Given the description of an element on the screen output the (x, y) to click on. 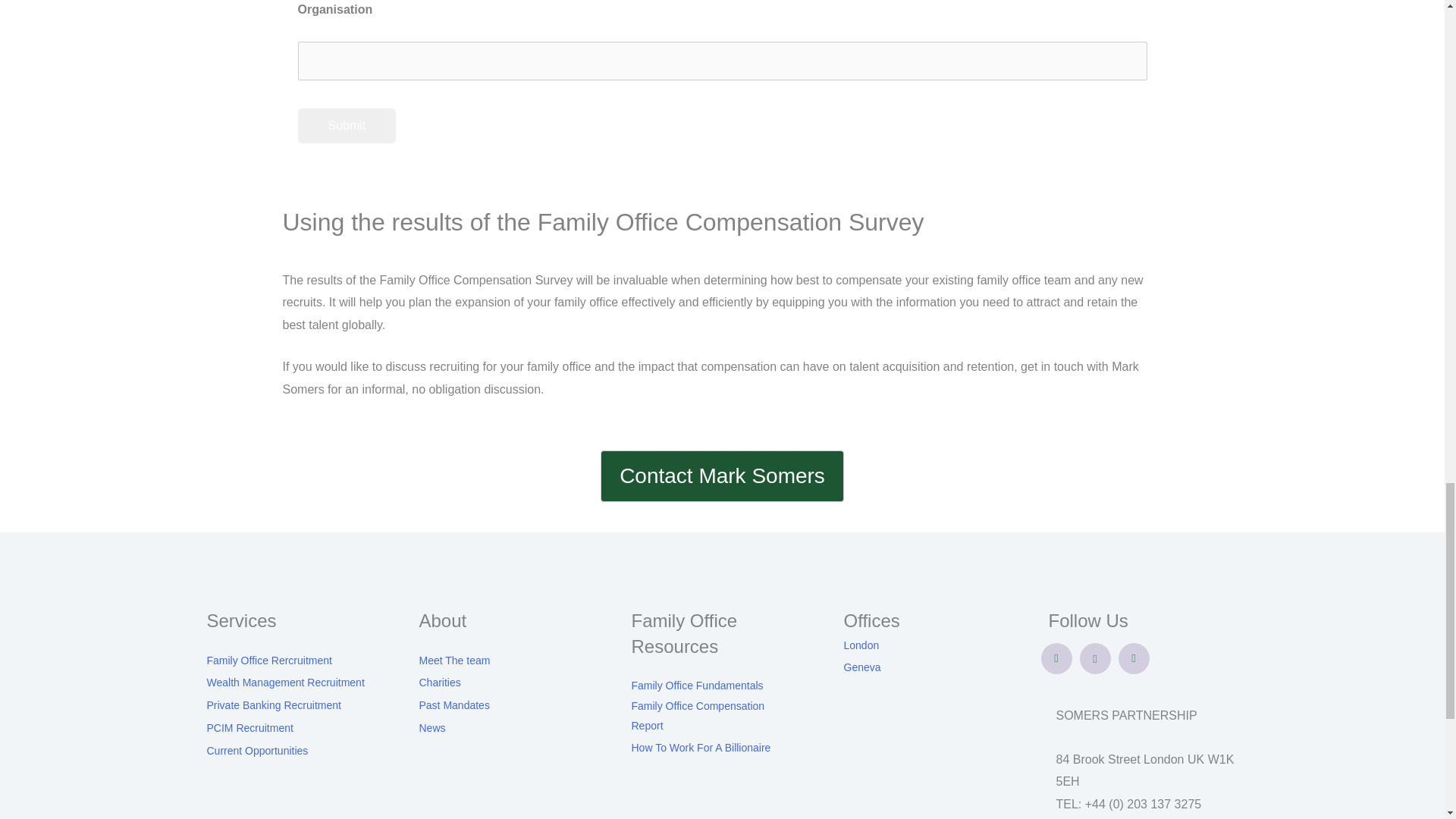
Submit (346, 125)
